Given the description of an element on the screen output the (x, y) to click on. 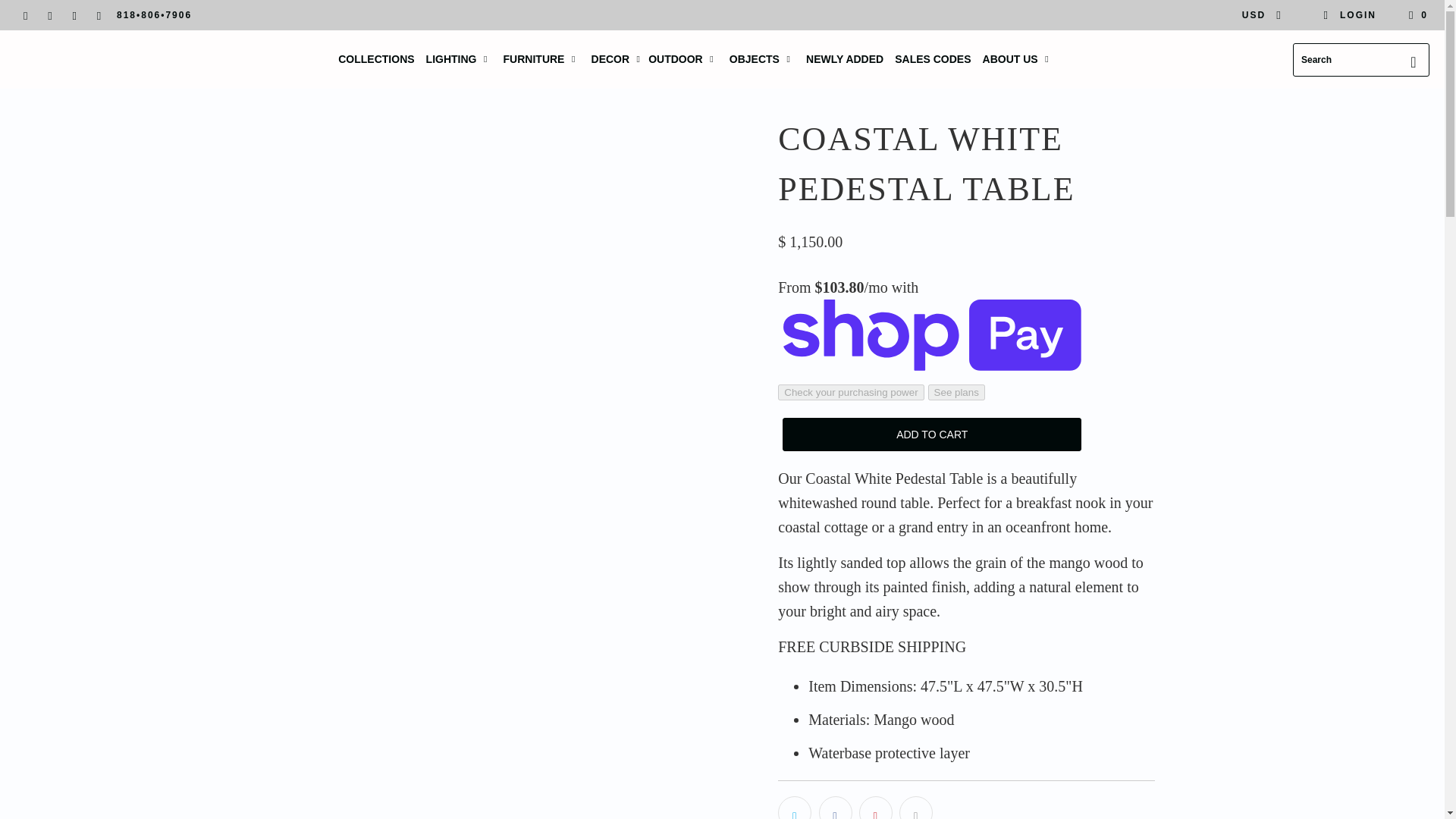
Email this to a friend (916, 807)
Share this on Pinterest (875, 807)
The Alley Exchange, Inc on Instagram (74, 14)
The Alley Exchange, Inc on Pinterest (49, 14)
Share this on Twitter (793, 807)
Email The Alley Exchange, Inc (98, 14)
Share this on Facebook (834, 807)
My Account  (1349, 15)
The Alley Exchange, Inc on Facebook (25, 14)
